Given the description of an element on the screen output the (x, y) to click on. 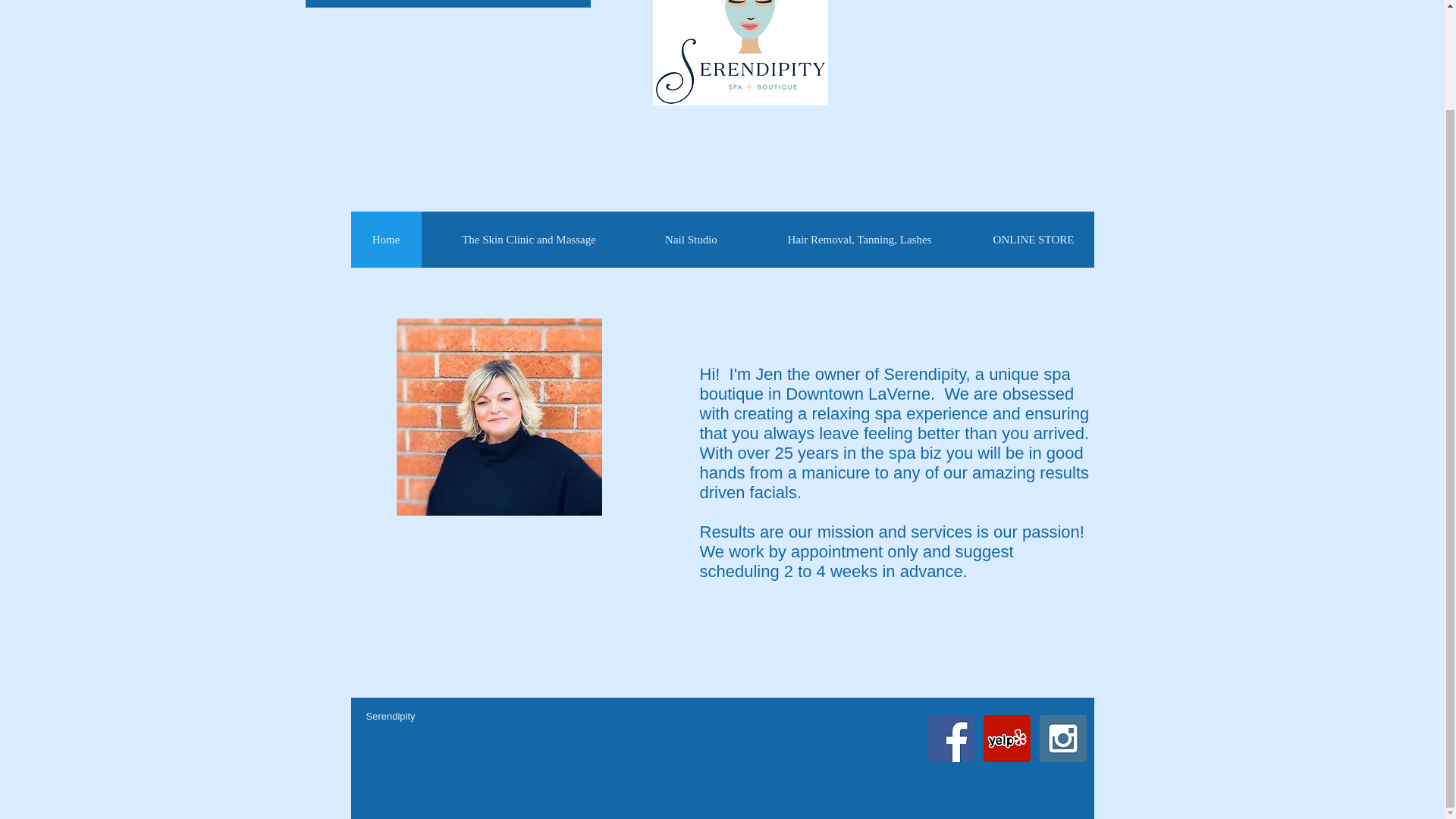
Hair Removal, Tanning, Lashes (858, 239)
Book an appointment (446, 3)
Nail Studio (689, 239)
Home (385, 239)
The Skin Clinic and Massage (529, 239)
